Given the description of an element on the screen output the (x, y) to click on. 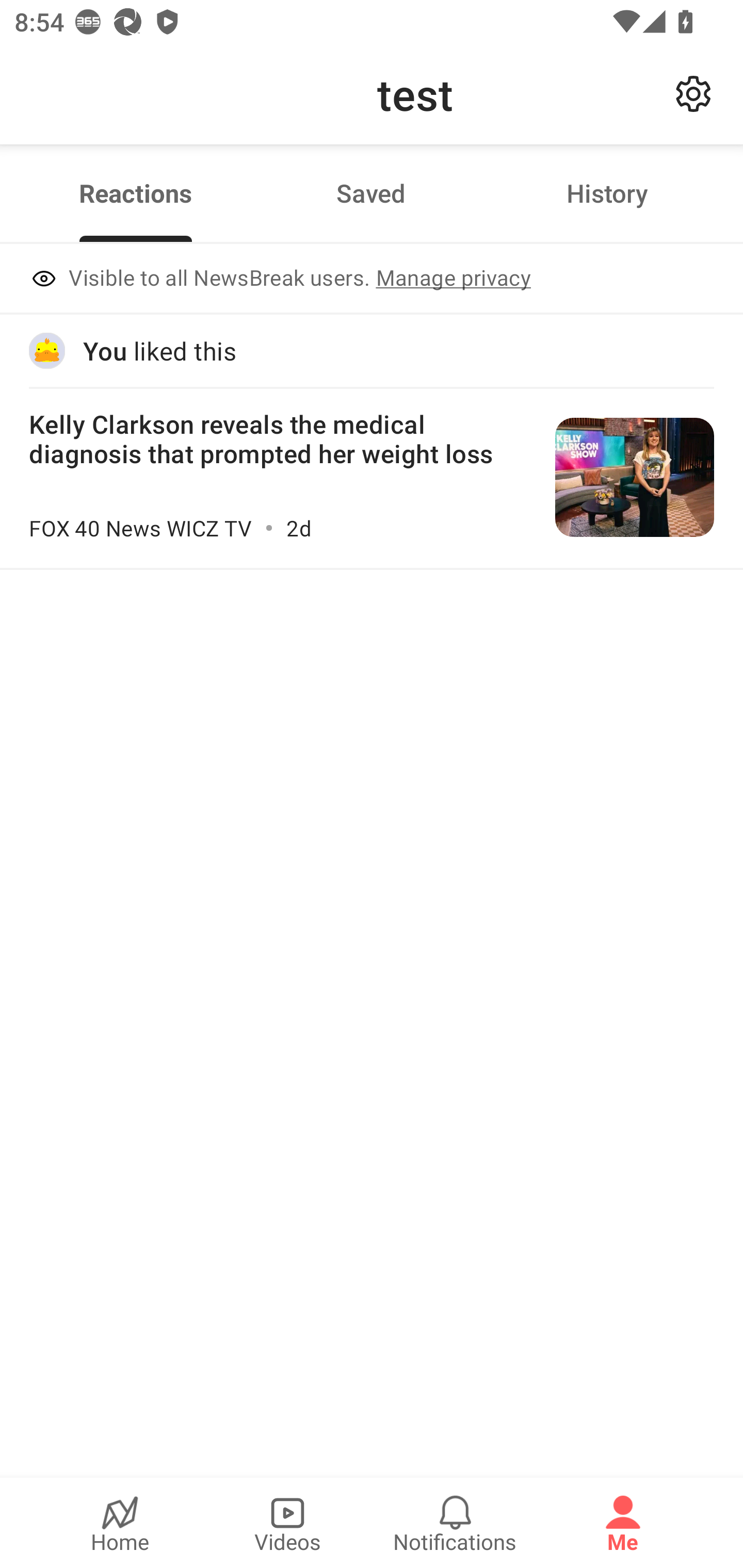
Saved (370, 192)
History (606, 192)
Visible to all NewsBreak users.  Manage privacy (371, 279)
Home (119, 1522)
Videos (287, 1522)
Notifications (455, 1522)
